Given the description of an element on the screen output the (x, y) to click on. 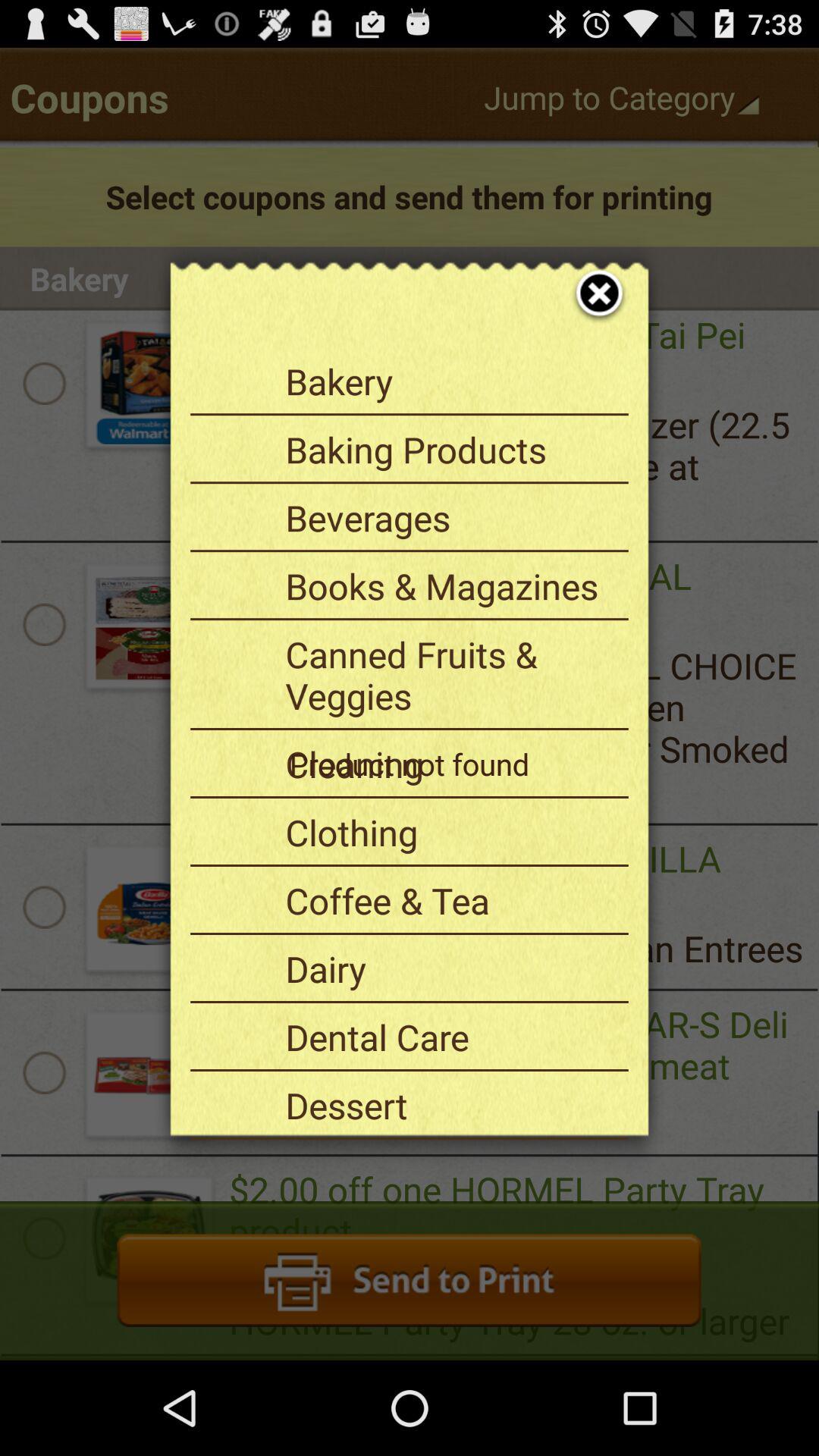
tap the dairy app (451, 968)
